Given the description of an element on the screen output the (x, y) to click on. 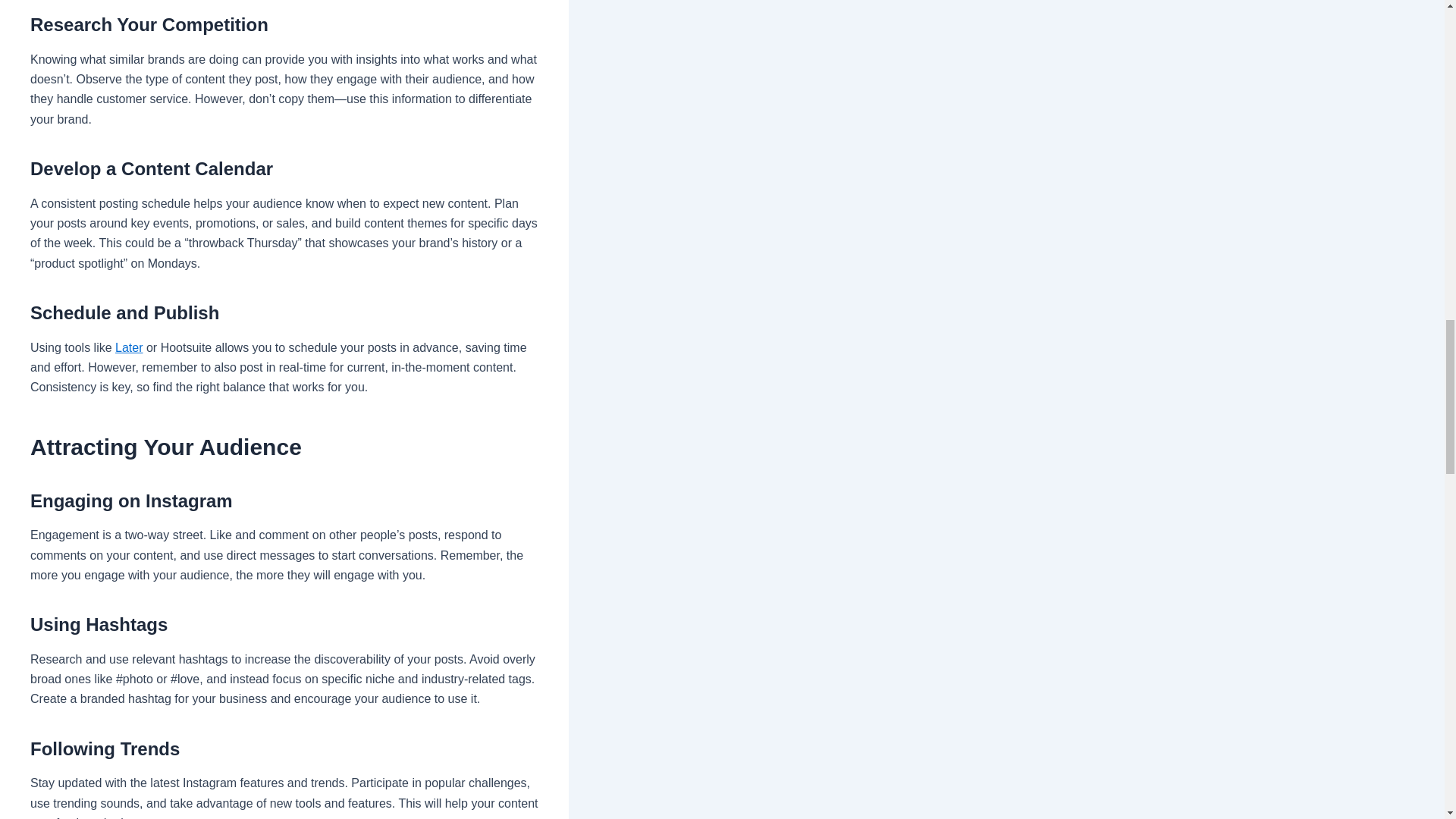
Later (128, 347)
